Given the description of an element on the screen output the (x, y) to click on. 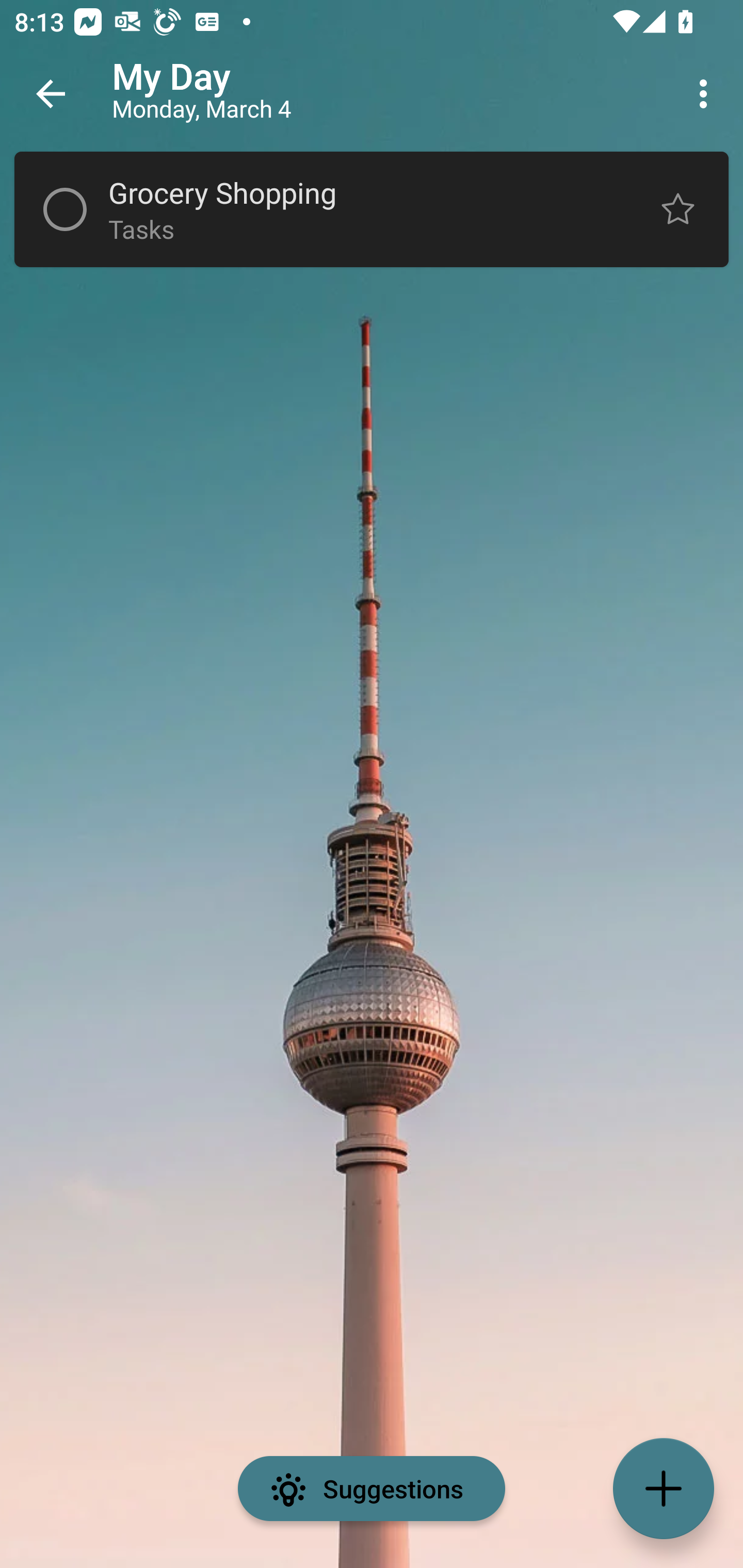
Back (50, 93)
testappium002@outlook.com Enter search (185, 93)
More options (706, 93)
Incomplete task Grocery Shopping, Button (64, 209)
Normal task Grocery Shopping, Button (677, 209)
Grocery Shopping (356, 191)
Add a task (663, 1488)
Suggestions (371, 1488)
